Given the description of an element on the screen output the (x, y) to click on. 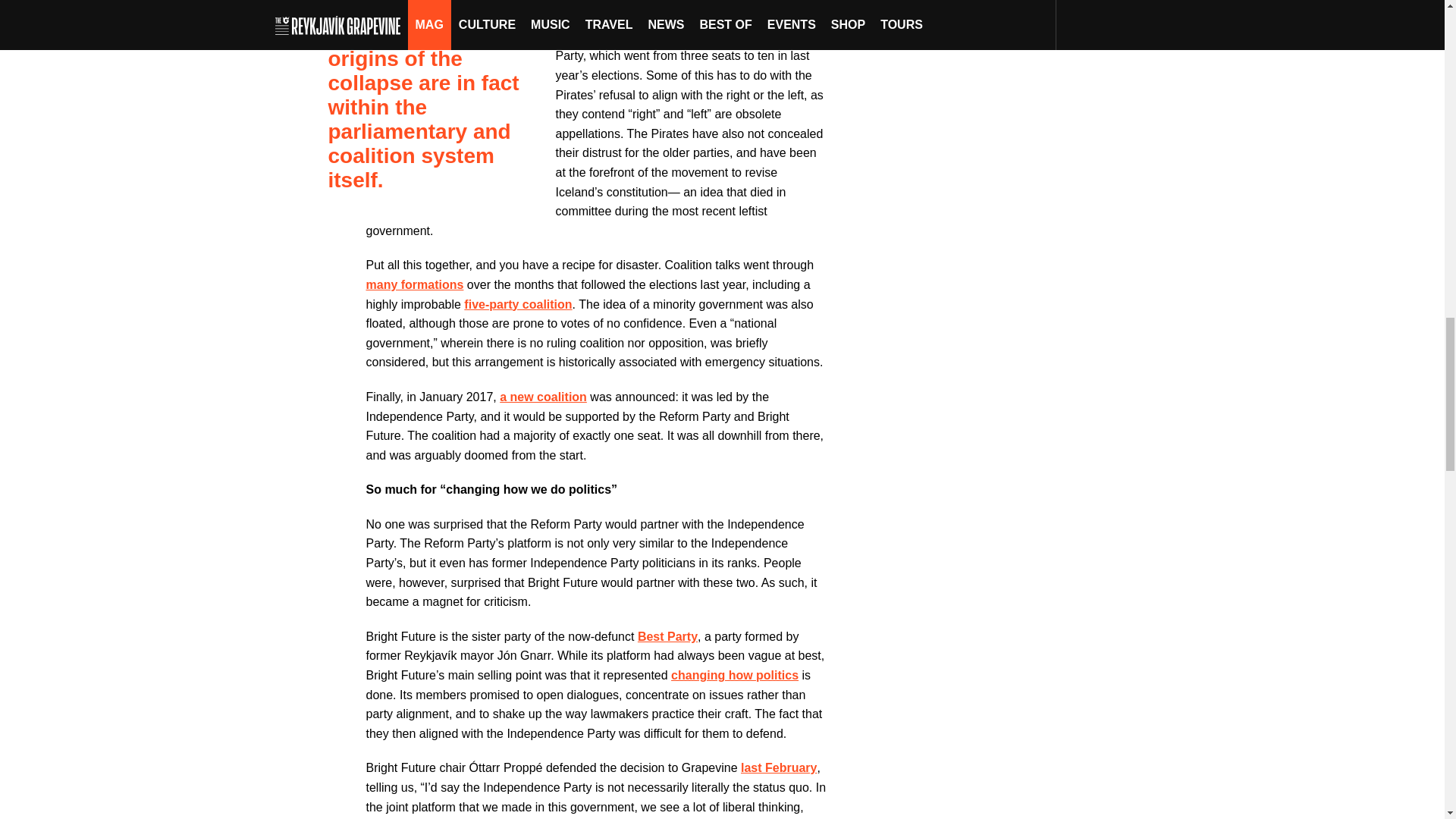
Best Party (667, 635)
many formations (414, 284)
five-party coalition (518, 304)
last February (778, 767)
a new coalition (542, 396)
changing how politics (734, 675)
